Given the description of an element on the screen output the (x, y) to click on. 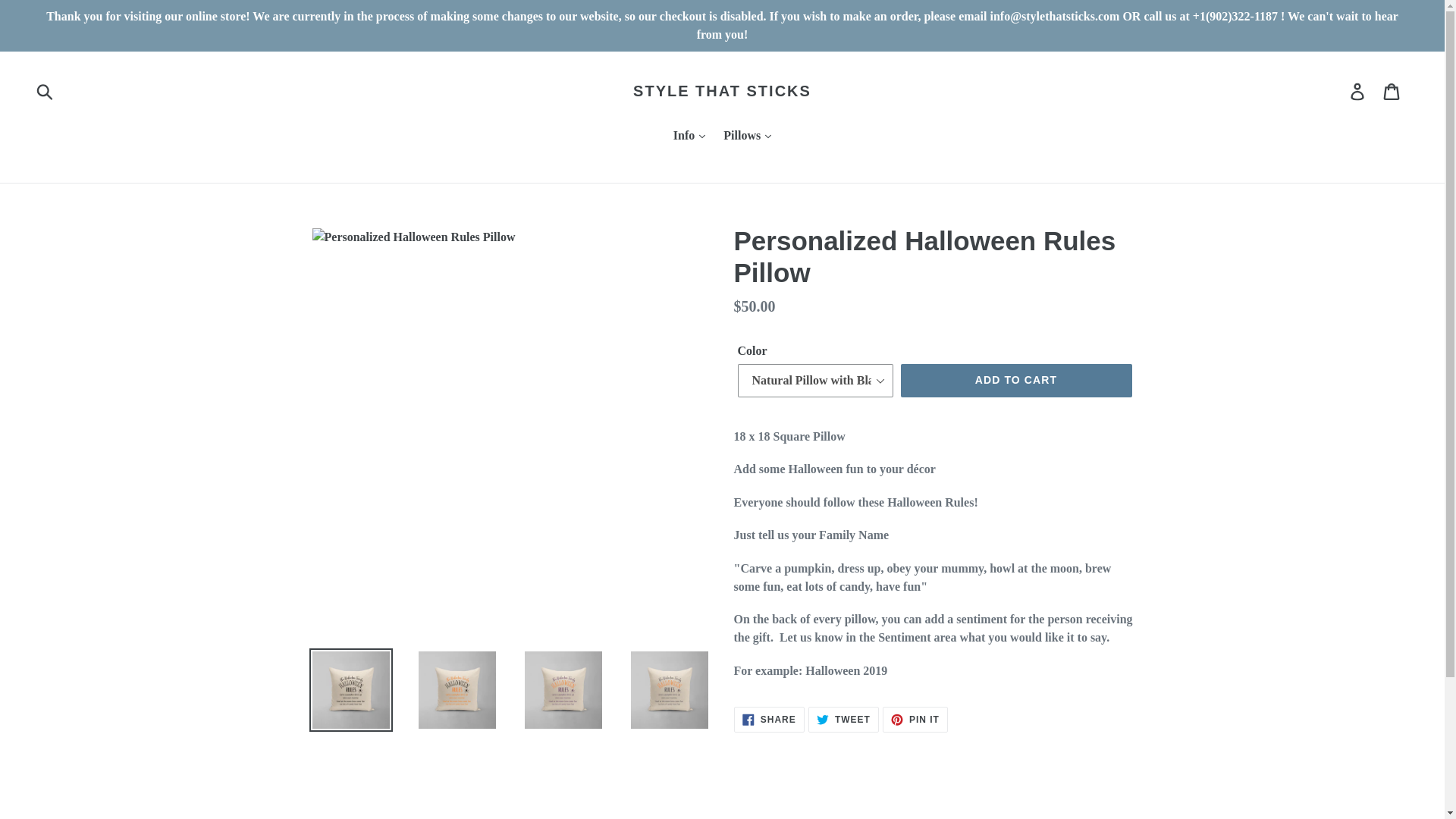
STYLE THAT STICKS (721, 90)
Submit (45, 90)
Log in (1357, 91)
Cart (1392, 91)
